Given the description of an element on the screen output the (x, y) to click on. 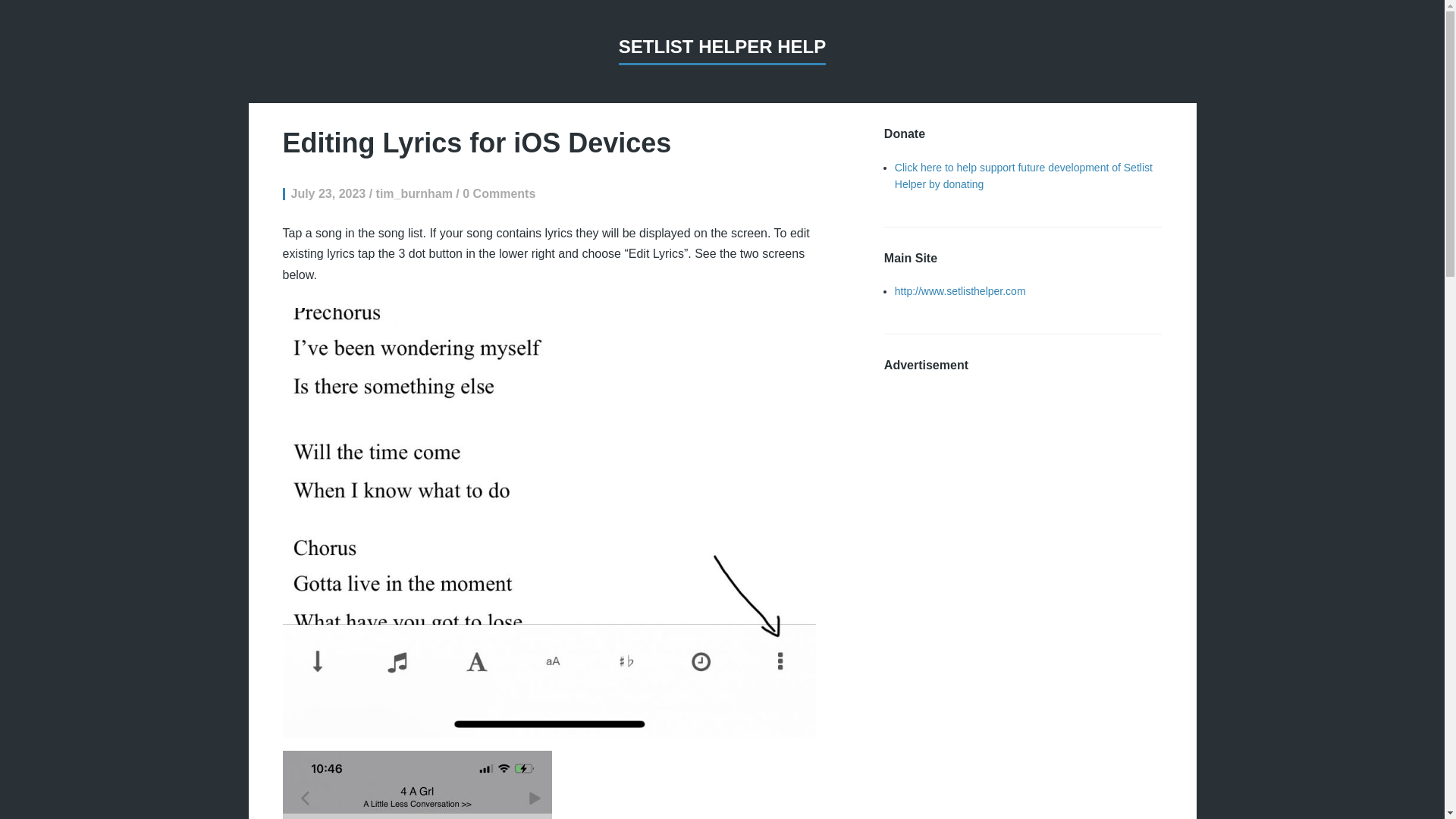
SETLIST HELPER HELP (721, 49)
Editing Lyrics for iOS Devices (476, 142)
Helping musicians build and arrange setlists. (960, 291)
